Given the description of an element on the screen output the (x, y) to click on. 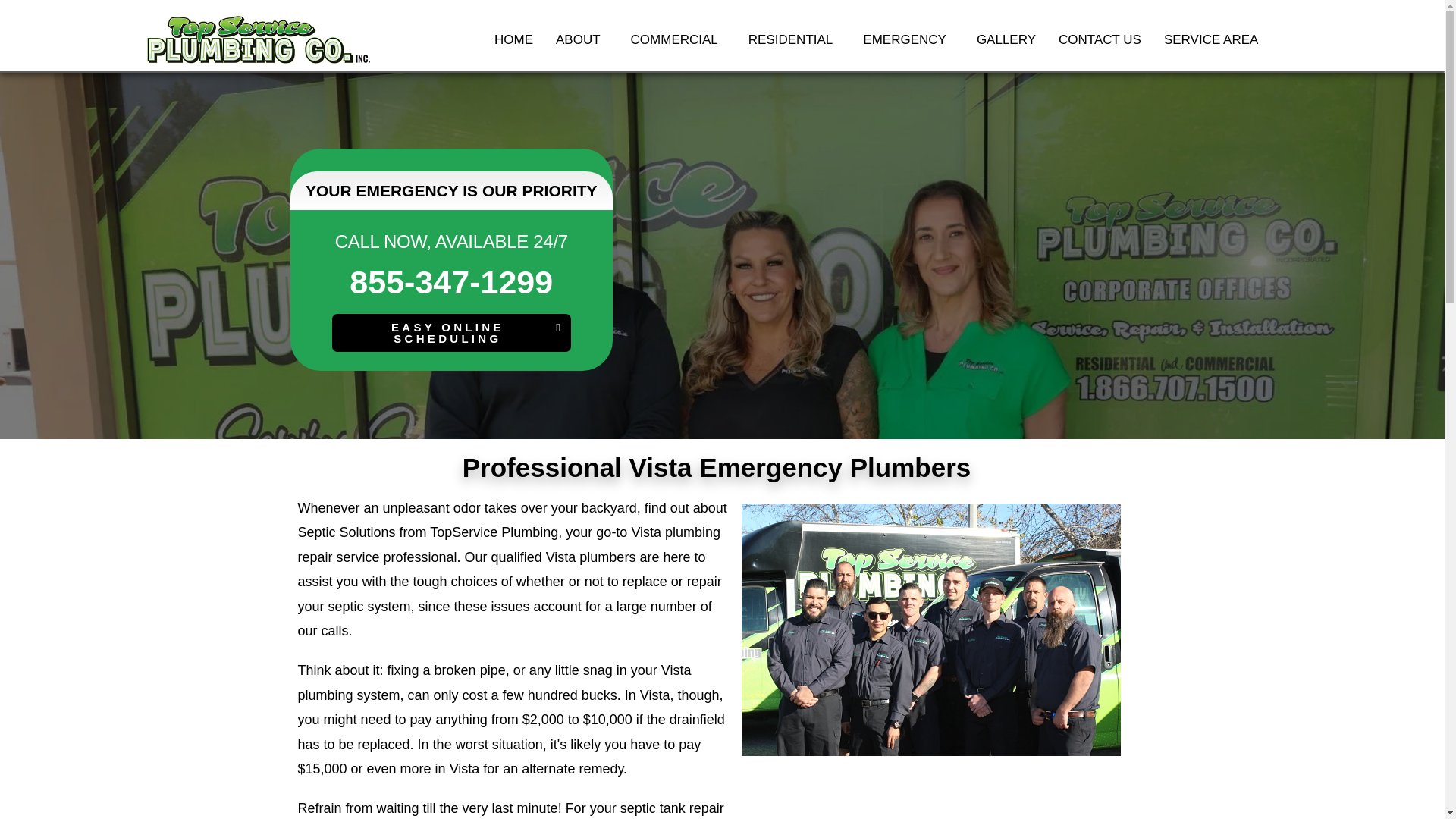
CONTACT US (1099, 38)
RESIDENTIAL (793, 38)
SERVICE AREA (1211, 38)
HOME (513, 38)
855-347-1299 (451, 281)
COMMERCIAL (678, 38)
GALLERY (1005, 38)
ABOUT (582, 38)
EMERGENCY (908, 38)
